Given the description of an element on the screen output the (x, y) to click on. 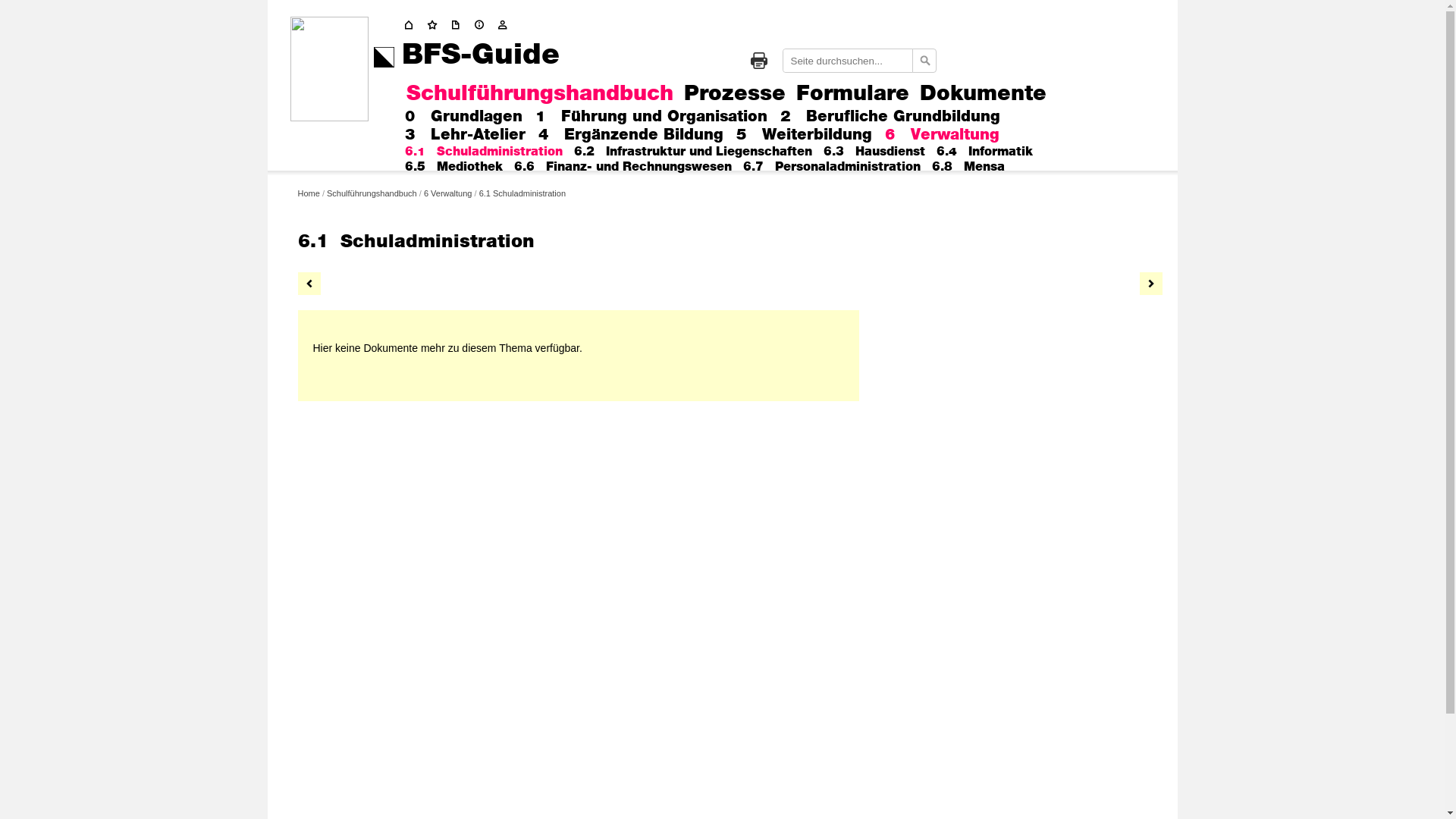
6.1 Schuladministration Element type: text (522, 192)
Formulare Element type: text (852, 93)
Dokumente Element type: text (982, 93)
6.3   Hausdienst Element type: text (874, 151)
6.4   Informatik Element type: text (983, 151)
Update Element type: hover (457, 24)
Home Element type: hover (410, 24)
2   Berufliche Grundbildung Element type: text (889, 116)
6.8   Mensa Element type: text (967, 166)
Home Element type: text (308, 192)
Prozesse Element type: text (734, 93)
5   Weiterbildung Element type: text (803, 134)
6.1   Schuladministration Element type: text (483, 151)
Impressum Element type: hover (482, 24)
Kontakt Element type: hover (504, 24)
0   Grundlagen Element type: text (463, 116)
BFS-Guide Element type: text (480, 54)
3   Lehr-Atelier Element type: text (464, 134)
6.7   Personaladministration Element type: text (831, 166)
6   Verwaltung Element type: text (941, 134)
6 Verwaltung Element type: text (447, 192)
6.2   Infrastruktur und Liegenschaften Element type: text (692, 151)
6.6   Finanz- und Rechnungswesen Element type: text (622, 166)
6.5   Mediothek Element type: text (453, 166)
Start Element type: hover (435, 24)
Drucken Element type: hover (758, 60)
